Given the description of an element on the screen output the (x, y) to click on. 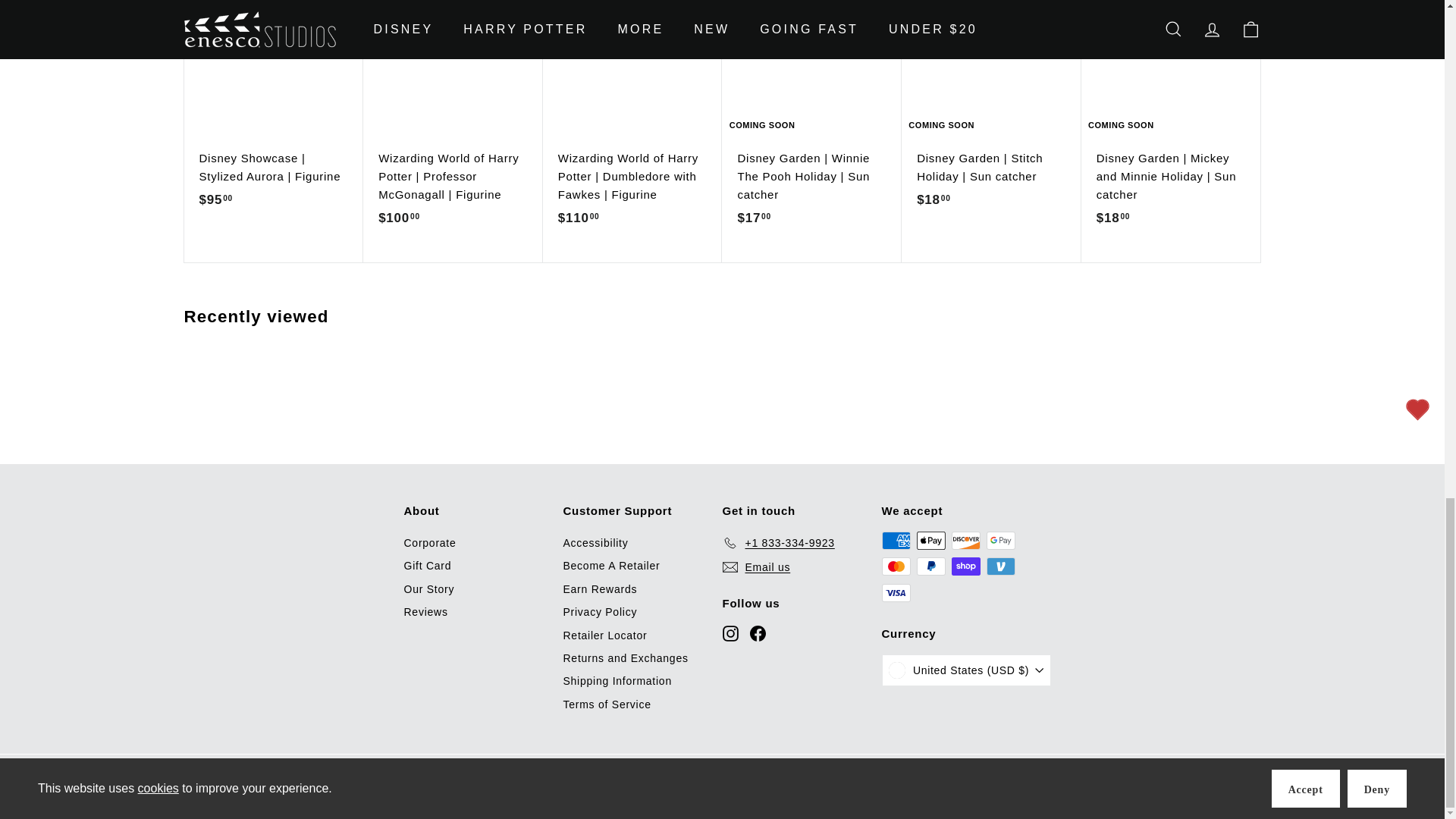
Enesco Studios on Instagram (730, 632)
Mastercard (895, 566)
Discover (964, 540)
Enesco Studios on Facebook (757, 632)
Visa (895, 592)
Google Pay (999, 540)
American Express (895, 540)
Apple Pay (929, 540)
Venmo (999, 566)
Shop Pay (964, 566)
